Given the description of an element on the screen output the (x, y) to click on. 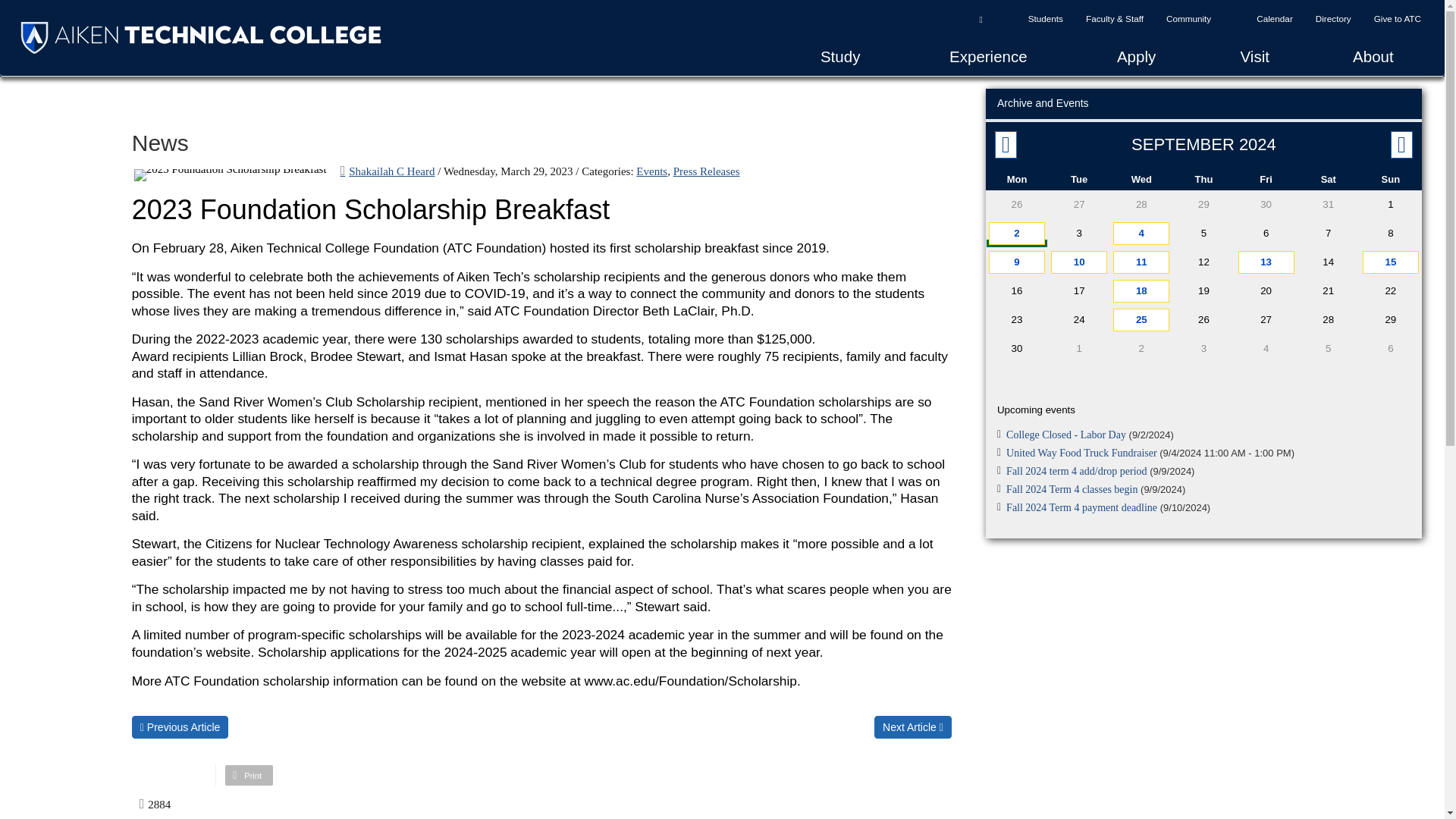
Directory (1333, 18)
Give to ATC (1397, 18)
Students (1045, 18)
Apply (1135, 56)
Calendar (1274, 18)
Study (840, 56)
Community (1188, 18)
Experience (988, 56)
